Given the description of an element on the screen output the (x, y) to click on. 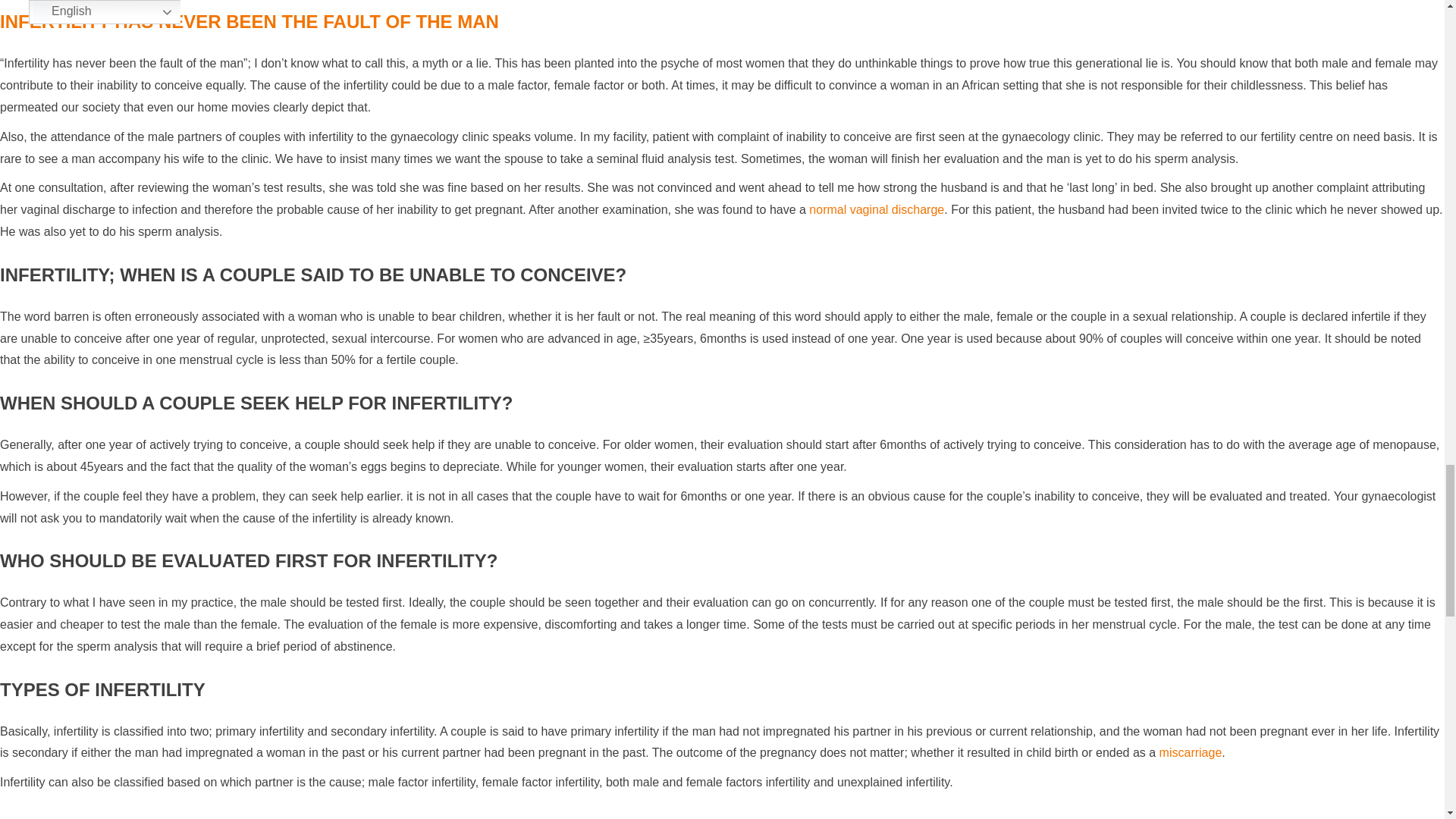
normal vaginal discharge (876, 209)
miscarriage (1190, 752)
INFERTILITY HAS NEVER BEEN THE FAULT OF THE MAN (249, 21)
